Given the description of an element on the screen output the (x, y) to click on. 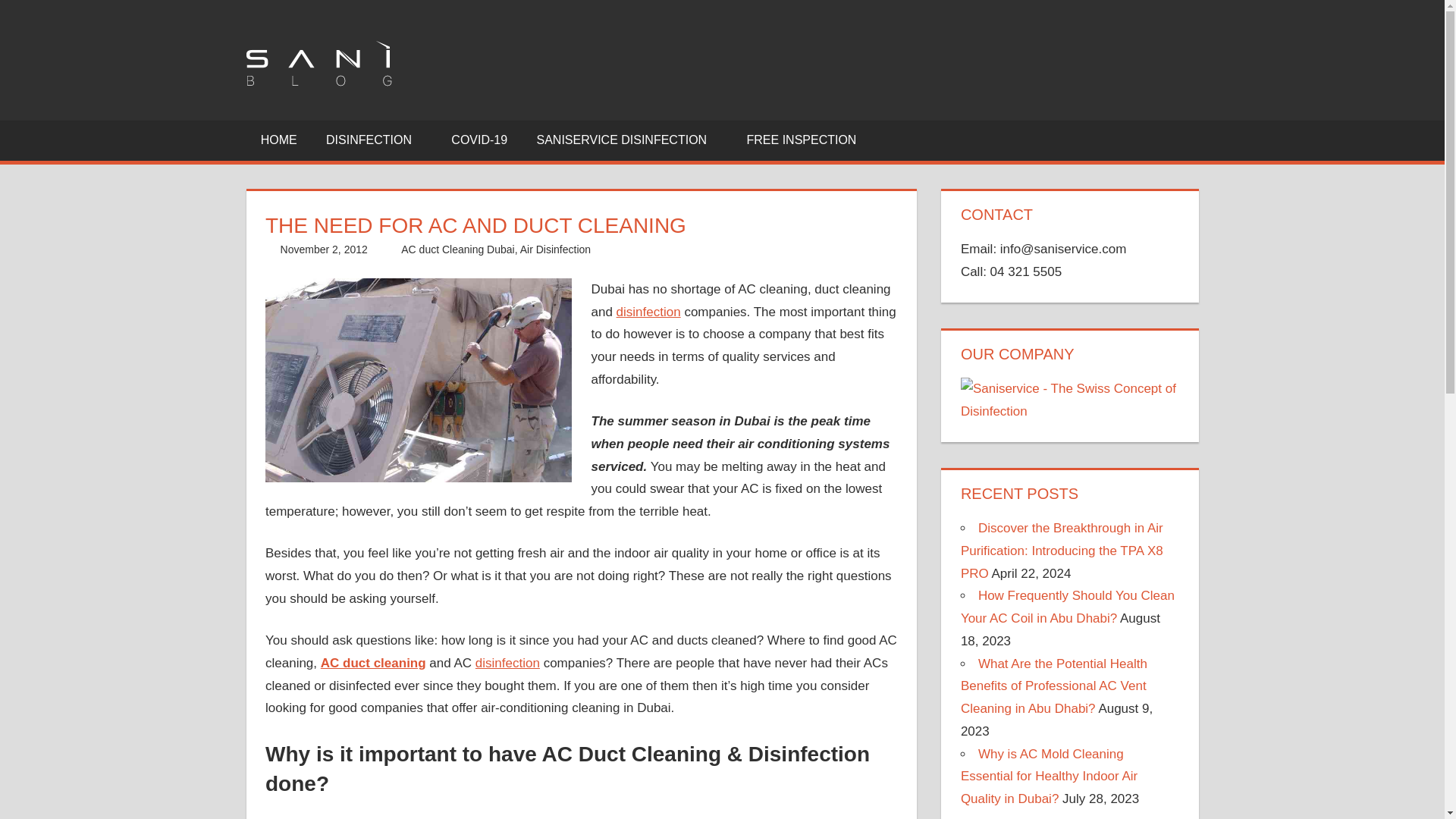
FREE INSPECTION (801, 139)
View all posts by admin (411, 249)
HOME (278, 139)
9:34 pm (324, 249)
SANISERVICE DISINFECTION (626, 139)
AC duct cleaning (373, 663)
Air Disinfection (555, 249)
Disinfection (508, 663)
November 2, 2012 (324, 249)
